Given the description of an element on the screen output the (x, y) to click on. 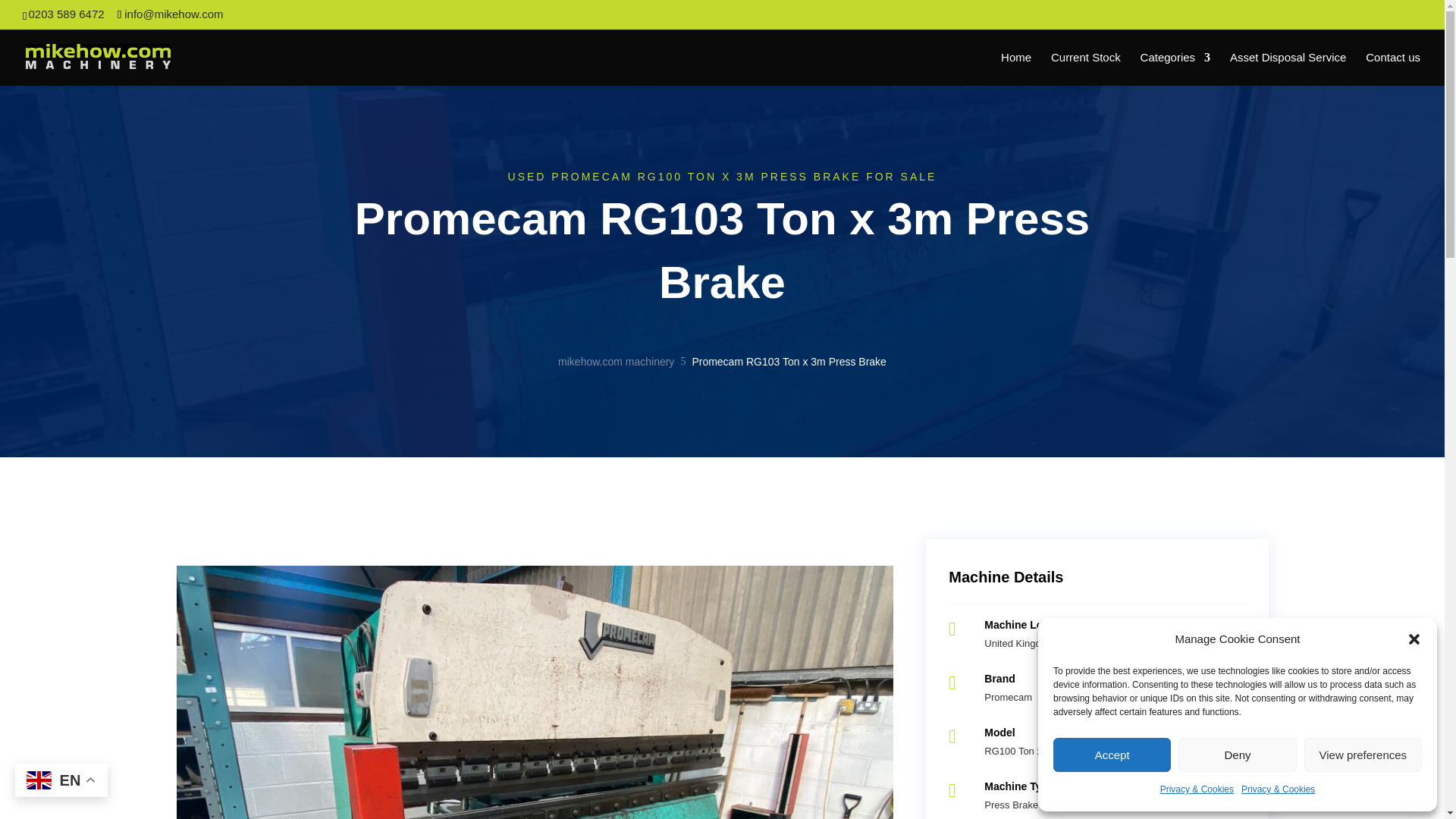
Deny (1236, 754)
Current Stock (1086, 68)
Home (1015, 68)
Asset Disposal Service (1287, 68)
Categories (1175, 68)
Contact us (1393, 68)
View preferences (1363, 754)
Accept (1111, 754)
